Given the description of an element on the screen output the (x, y) to click on. 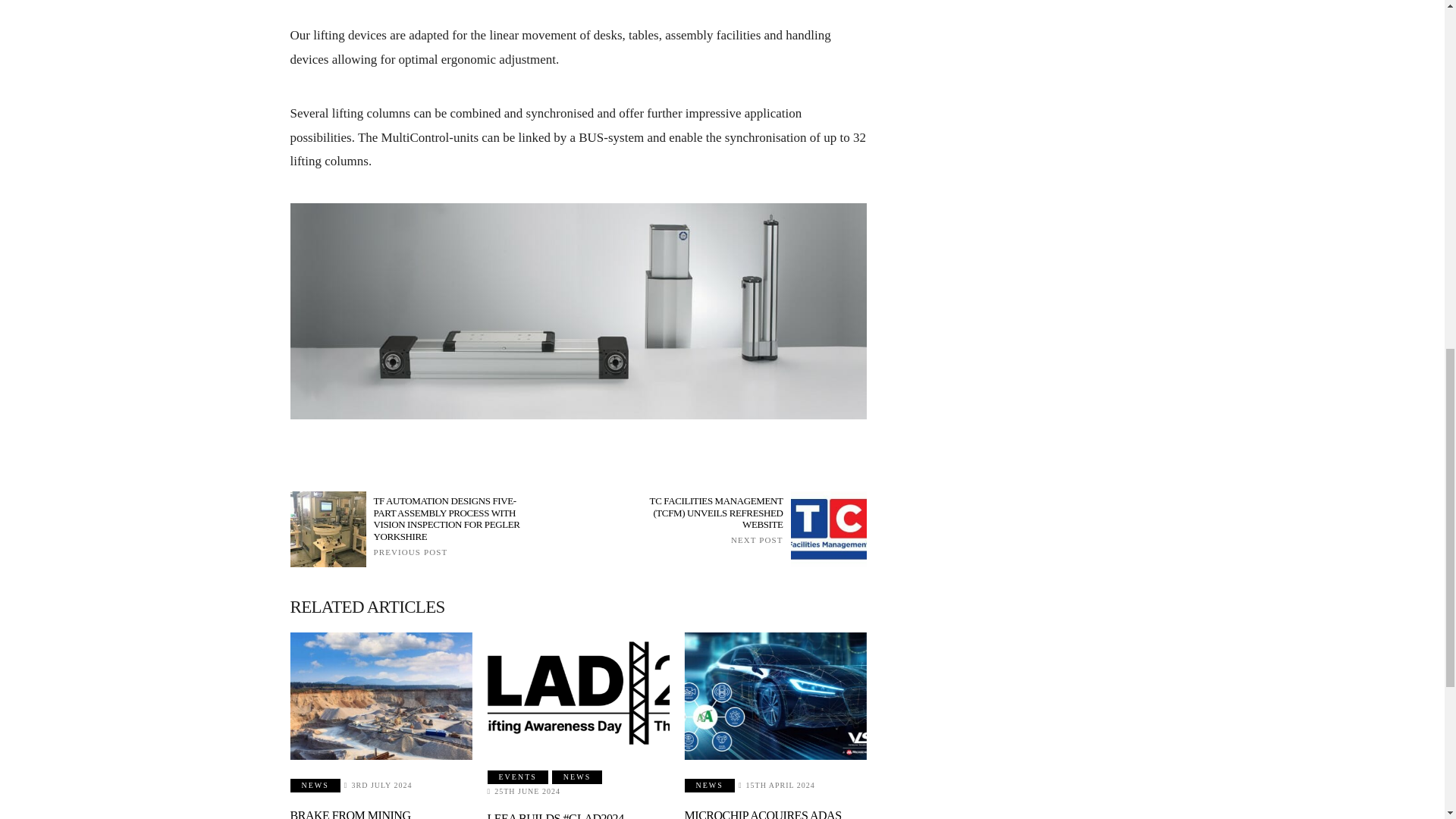
NEWS (314, 785)
Brake from Mining (380, 696)
